Given the description of an element on the screen output the (x, y) to click on. 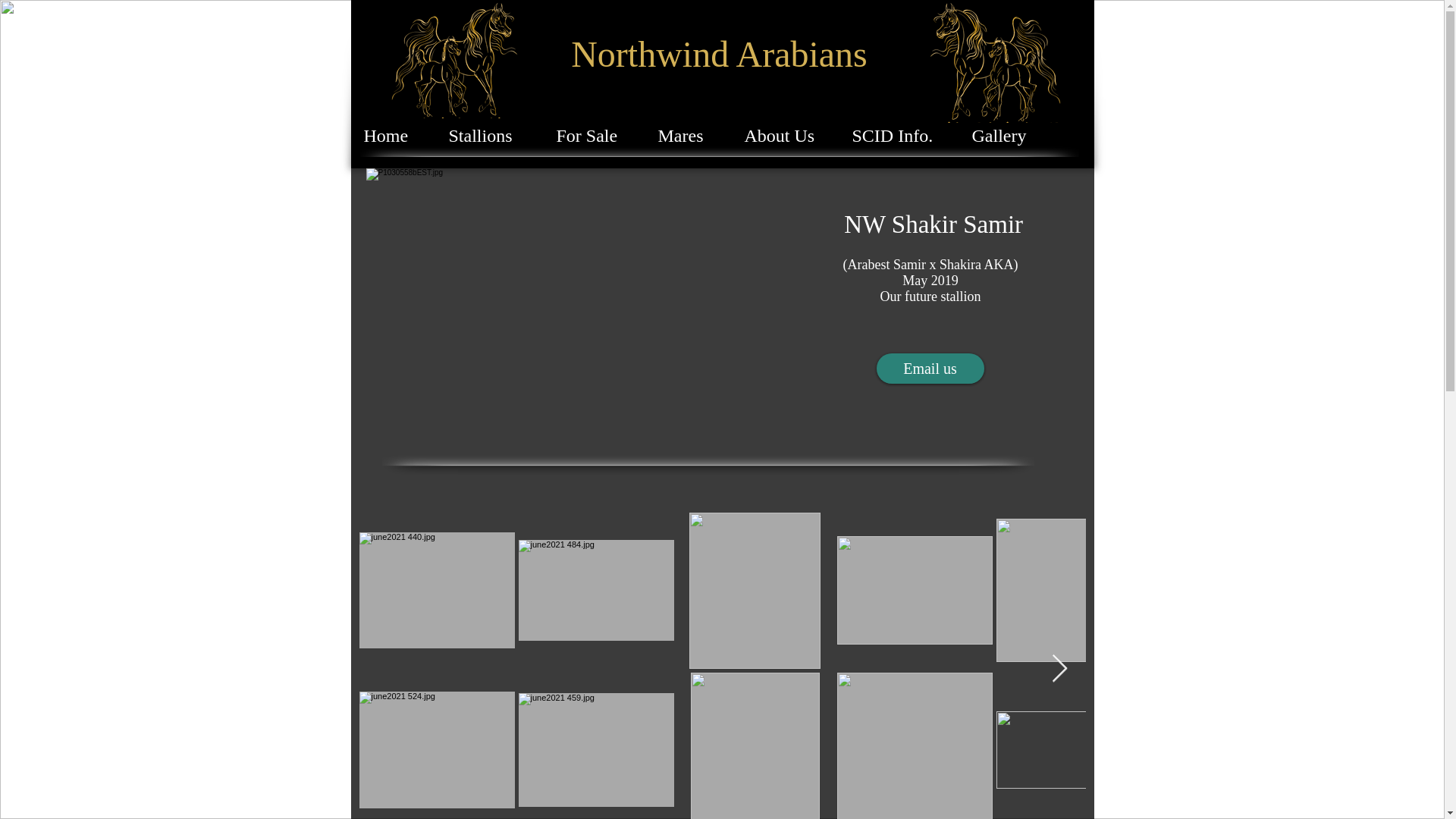
Mares (685, 132)
For Sale (591, 132)
Home (389, 132)
Email us (930, 368)
Stallions (486, 132)
Gallery (1003, 132)
SCID Info. (895, 132)
Northwind Arabians (718, 54)
About Us (781, 132)
Nw Newlogorev.png (994, 61)
